Given the description of an element on the screen output the (x, y) to click on. 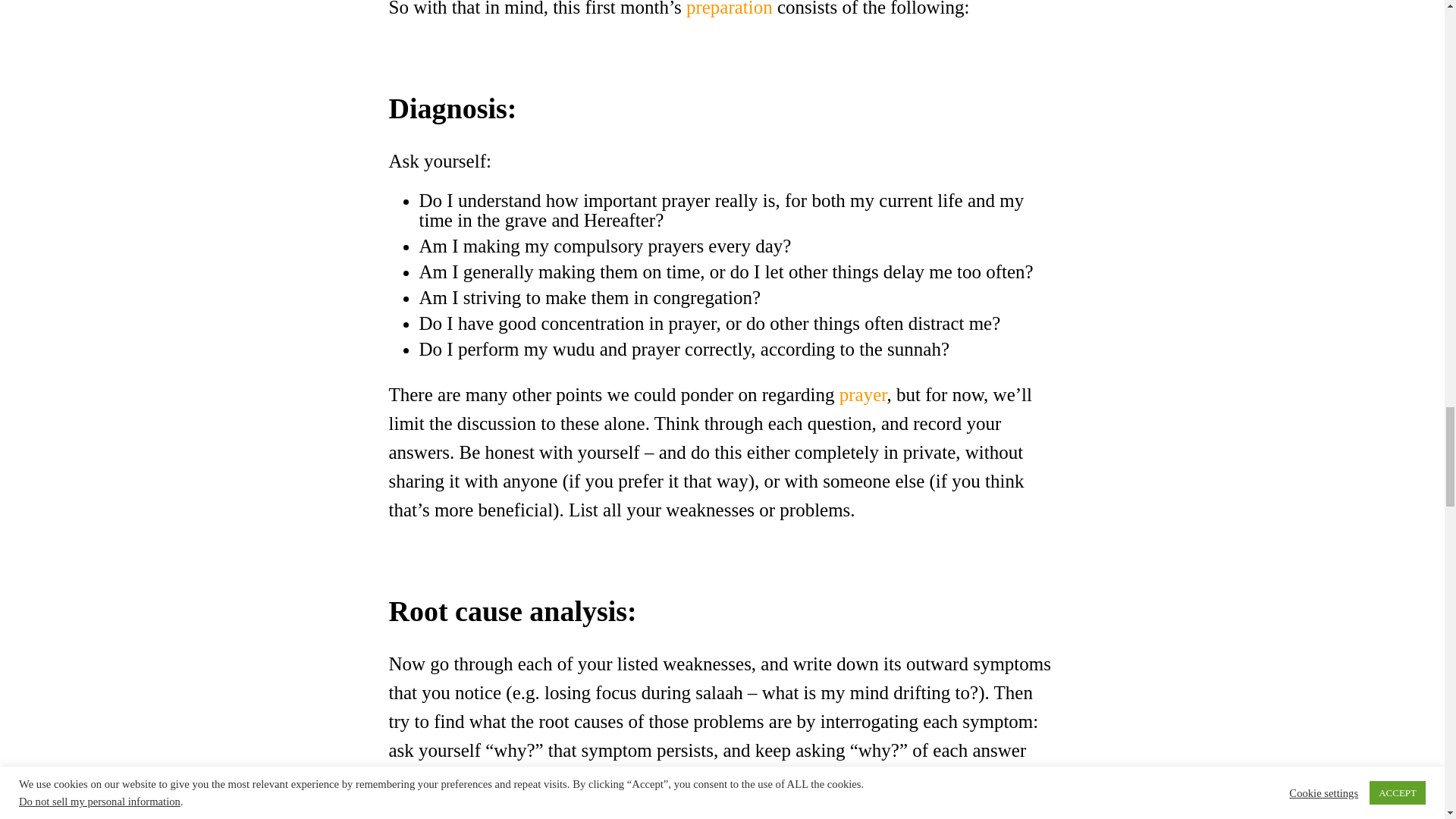
preparation (729, 8)
prayer (863, 394)
